Given the description of an element on the screen output the (x, y) to click on. 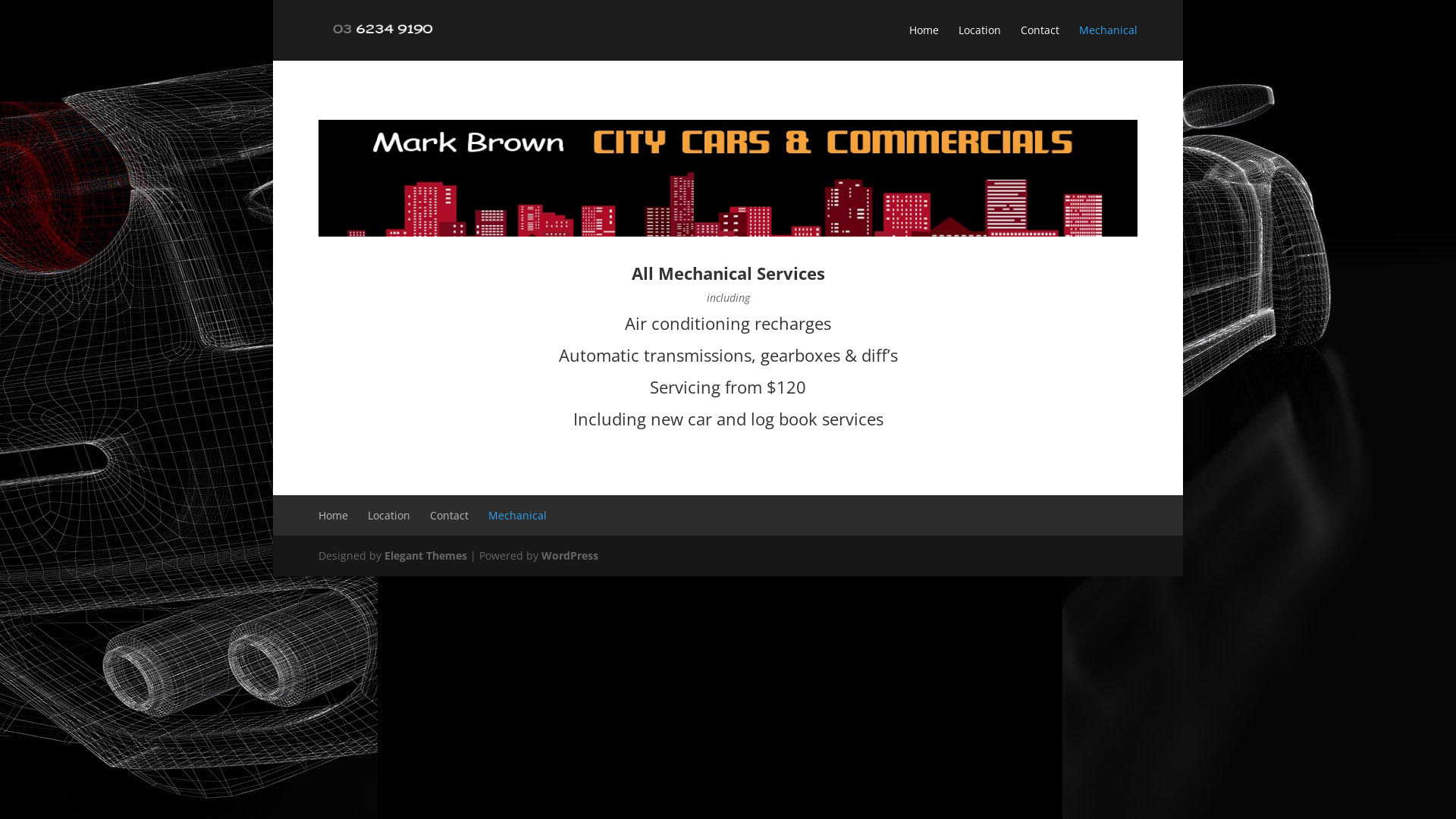
Contact Element type: text (448, 515)
Elegant Themes Element type: text (425, 555)
Mechanical Element type: text (1108, 40)
Contact Element type: text (1039, 40)
Mechanical Element type: text (517, 515)
Home Element type: text (923, 40)
Location Element type: text (388, 515)
WordPress Element type: text (569, 555)
Location Element type: text (979, 40)
Home Element type: text (333, 515)
